Given the description of an element on the screen output the (x, y) to click on. 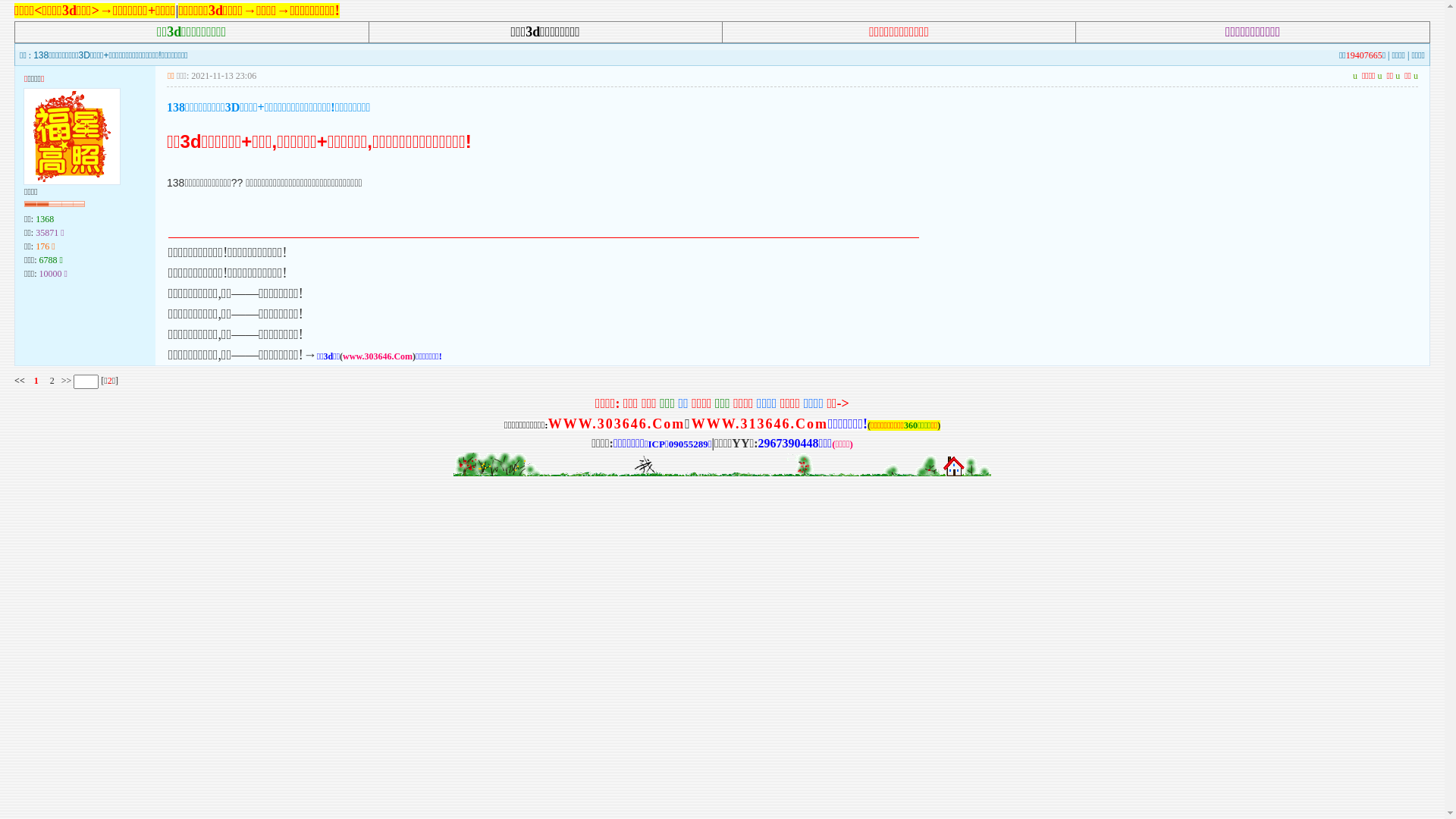
2 Element type: text (52, 380)
>> Element type: text (65, 380)
<< Element type: text (19, 380)
